Given the description of an element on the screen output the (x, y) to click on. 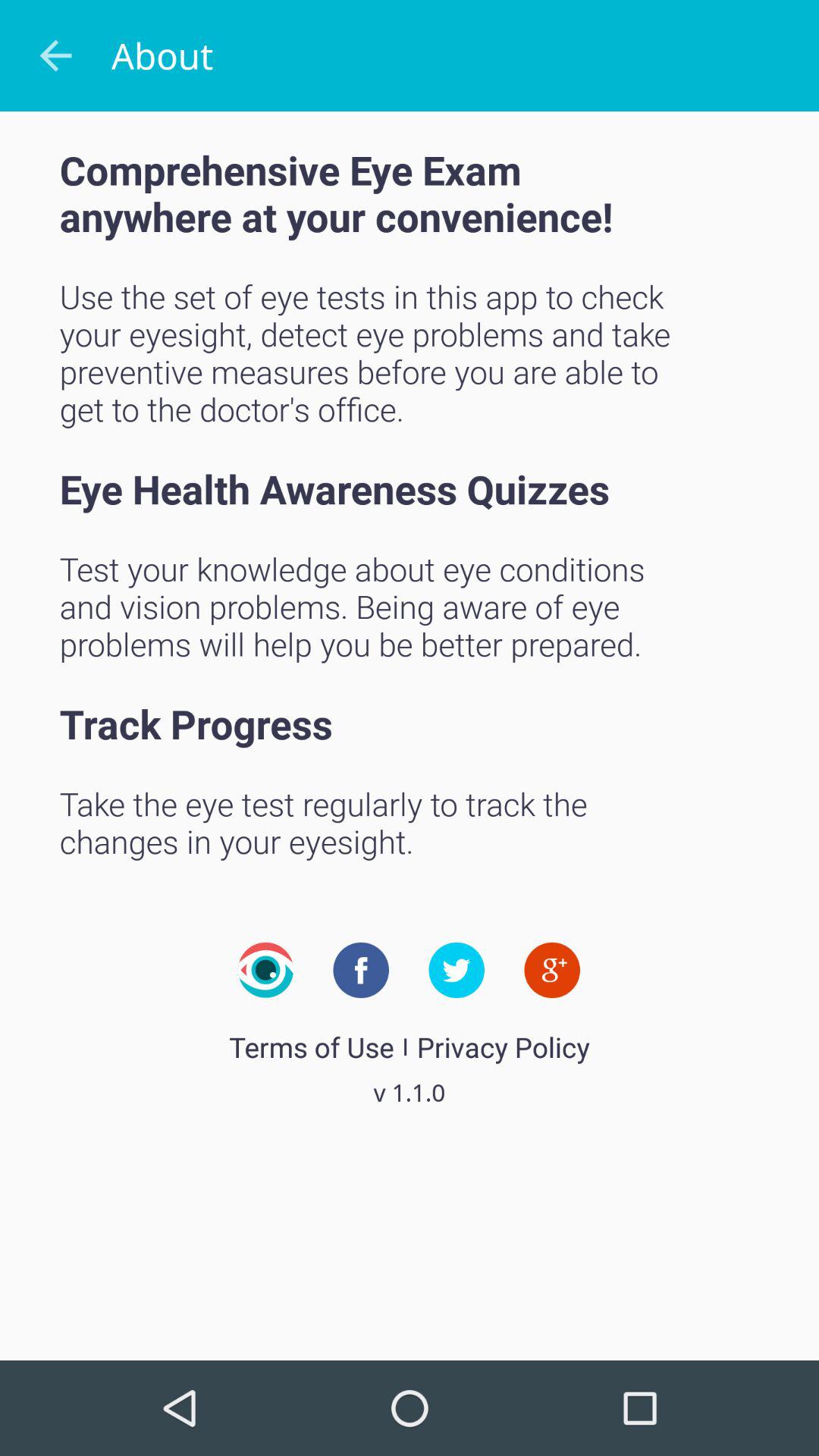
open icon above the terms of use (265, 970)
